Given the description of an element on the screen output the (x, y) to click on. 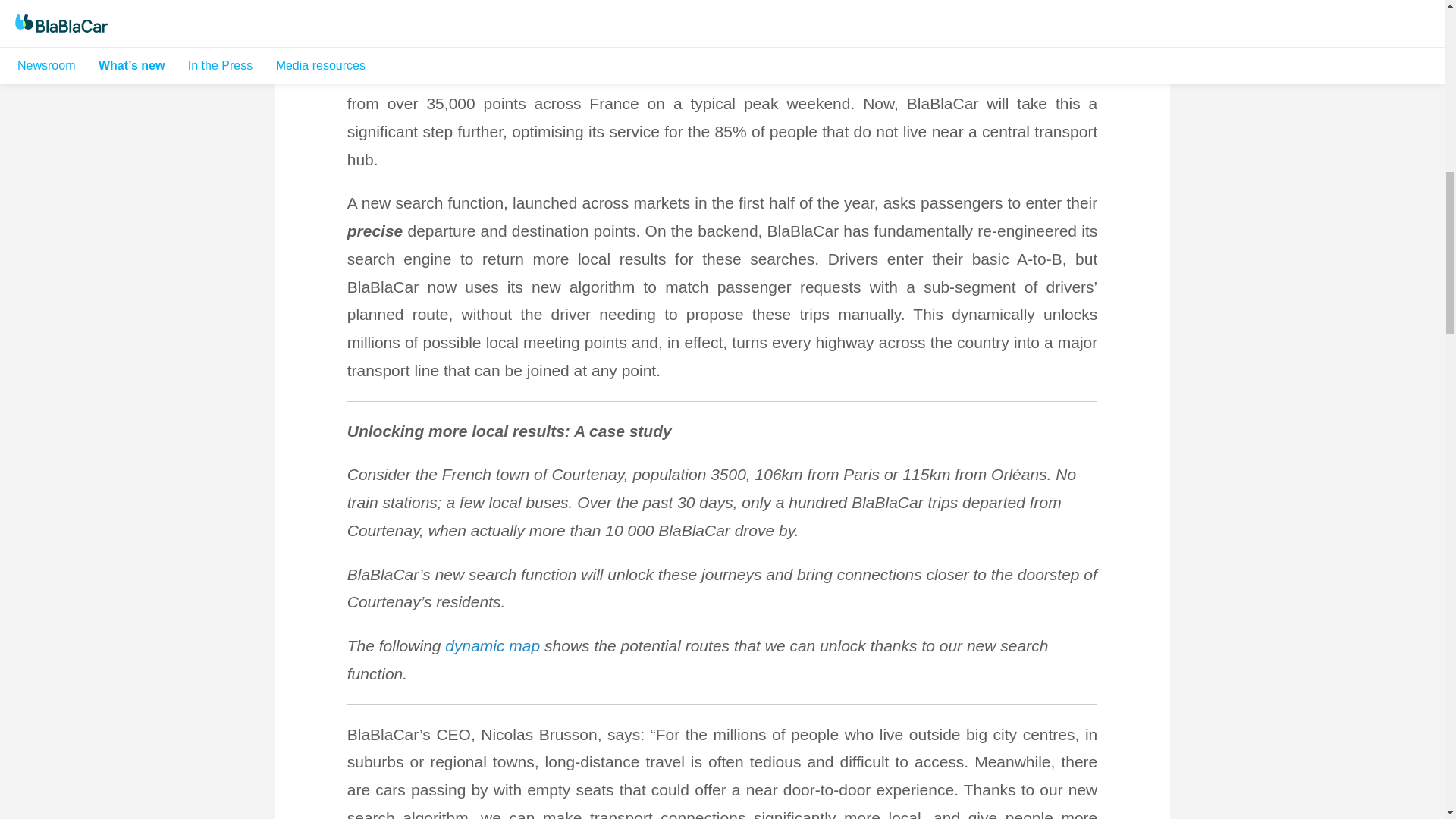
dynamic map (492, 646)
